Given the description of an element on the screen output the (x, y) to click on. 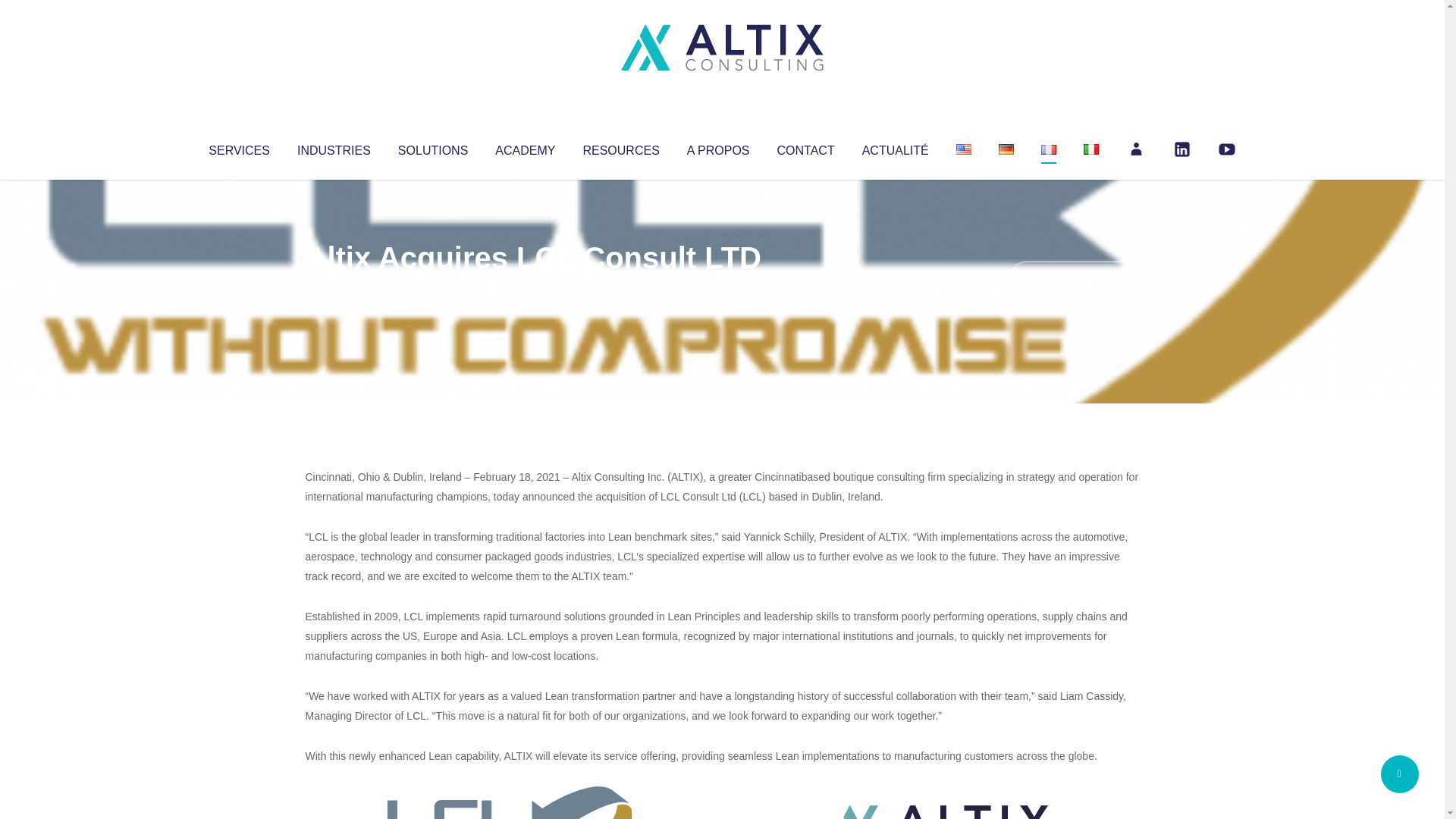
Altix (333, 287)
INDUSTRIES (334, 146)
ACADEMY (524, 146)
RESOURCES (620, 146)
Uncategorized (530, 287)
Articles par Altix (333, 287)
A PROPOS (718, 146)
SERVICES (238, 146)
SOLUTIONS (432, 146)
No Comments (1073, 278)
